Given the description of an element on the screen output the (x, y) to click on. 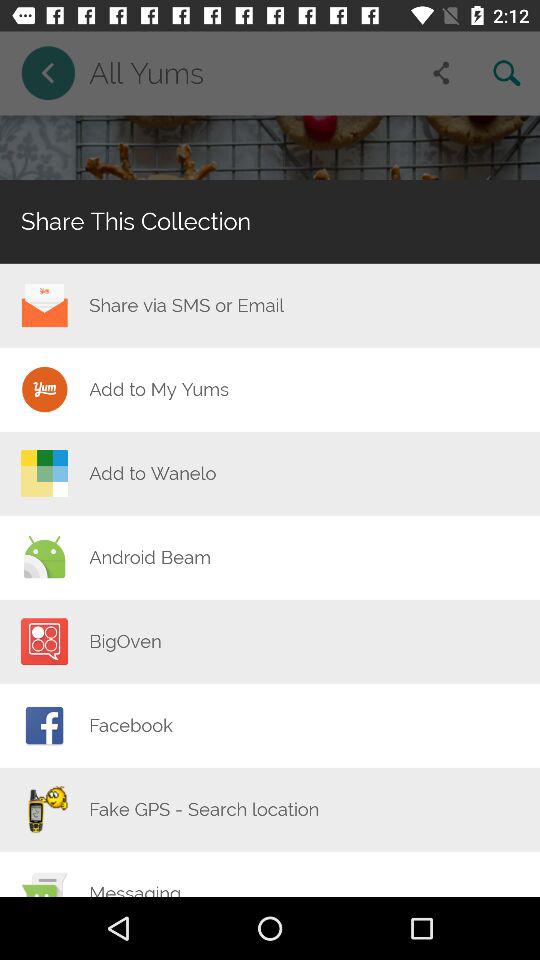
open the messaging item (135, 889)
